Given the description of an element on the screen output the (x, y) to click on. 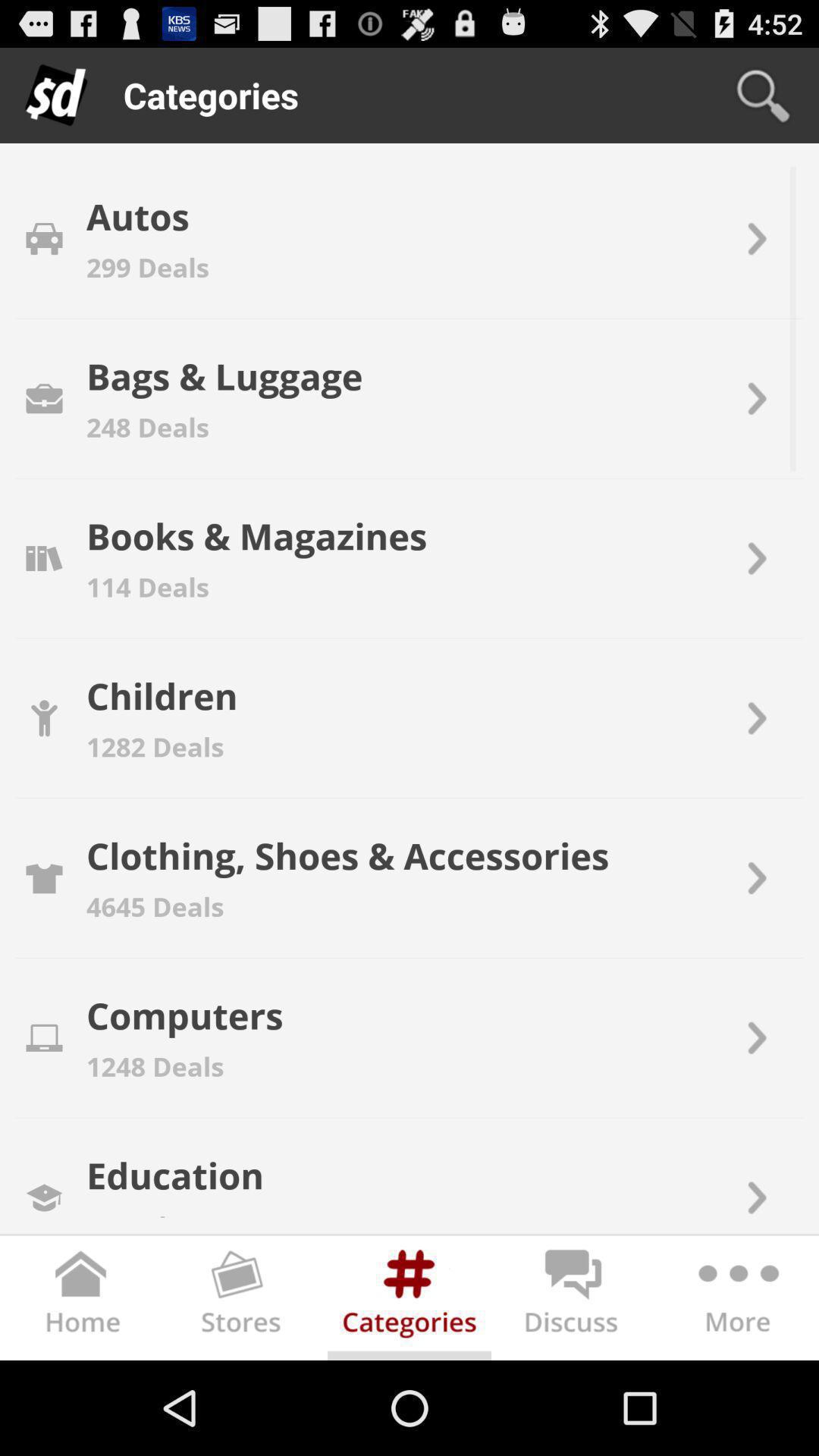
toggle the categories option (409, 1301)
